Given the description of an element on the screen output the (x, y) to click on. 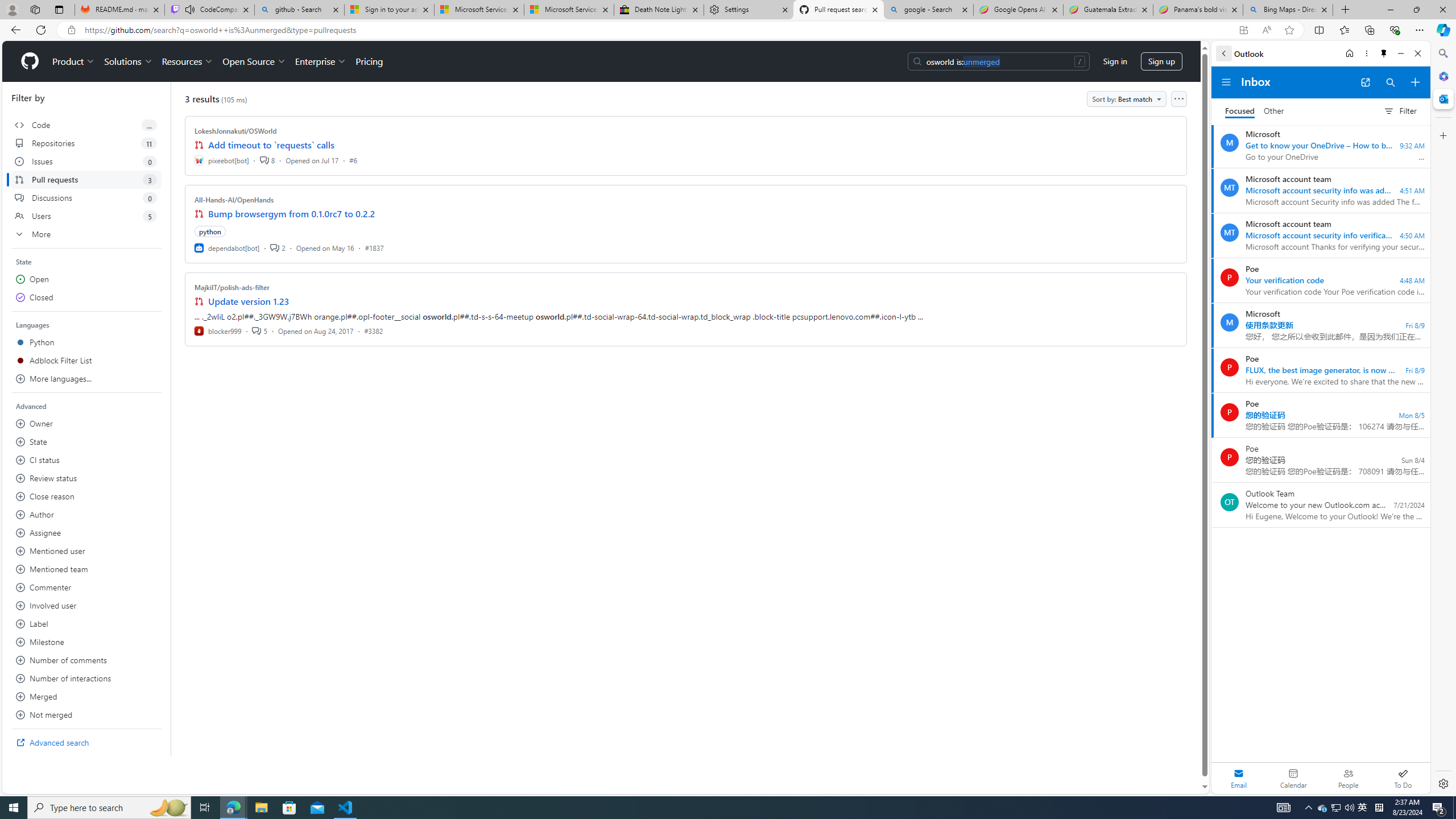
Selected mail module (1238, 777)
Compose new mail (1414, 82)
App available. Install GitHub (1243, 29)
Other (1273, 110)
